Given the description of an element on the screen output the (x, y) to click on. 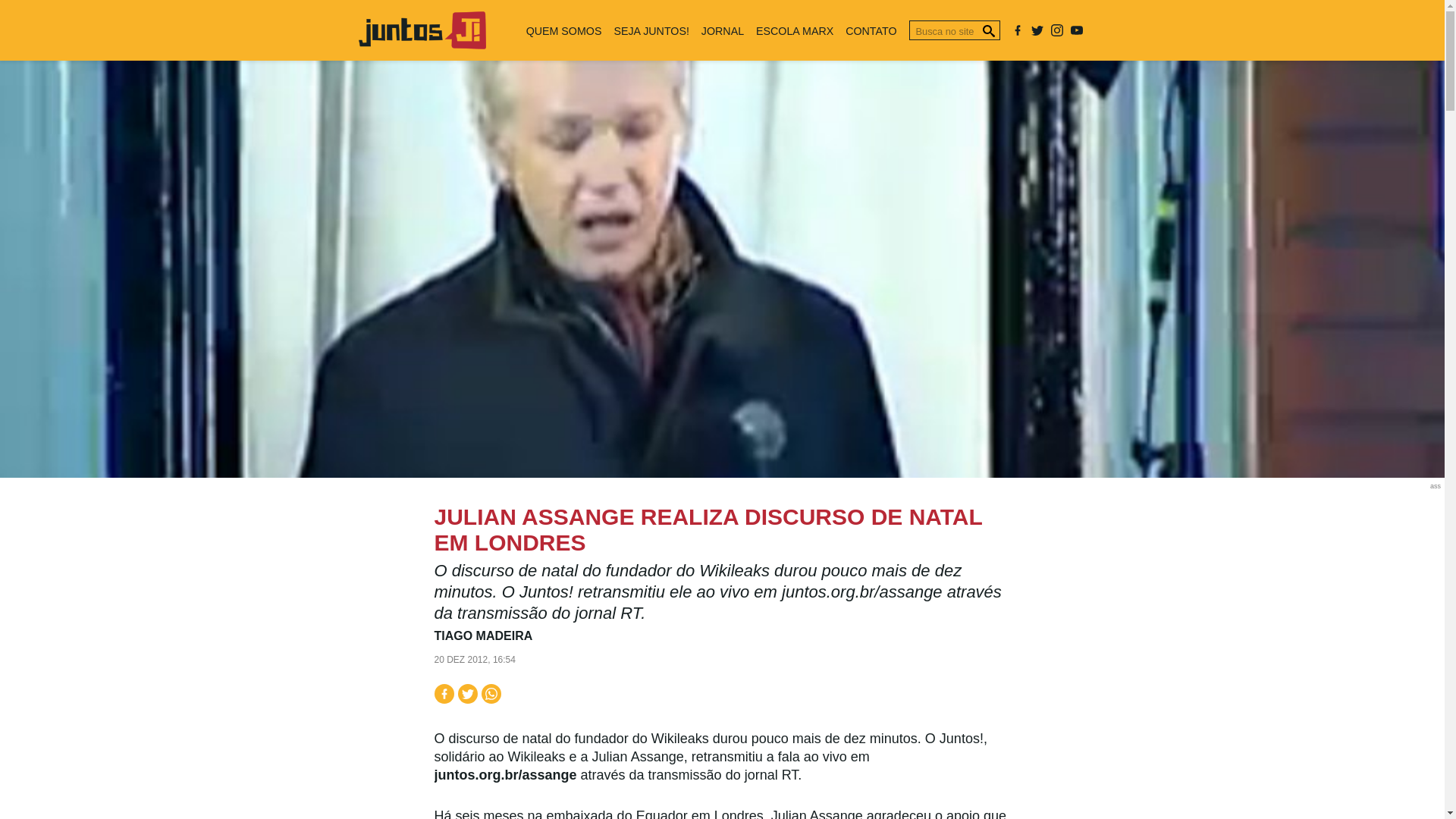
Compartilhar no Facebook (442, 693)
Juntos! (421, 44)
Twitter (1036, 30)
Juntos! (422, 30)
ESCOLA MARX (794, 29)
Instagram (1056, 30)
CONTATO (871, 29)
QUEM SOMOS (564, 29)
JORNAL (722, 29)
Compartilhar no WhatsApp (490, 693)
